Given the description of an element on the screen output the (x, y) to click on. 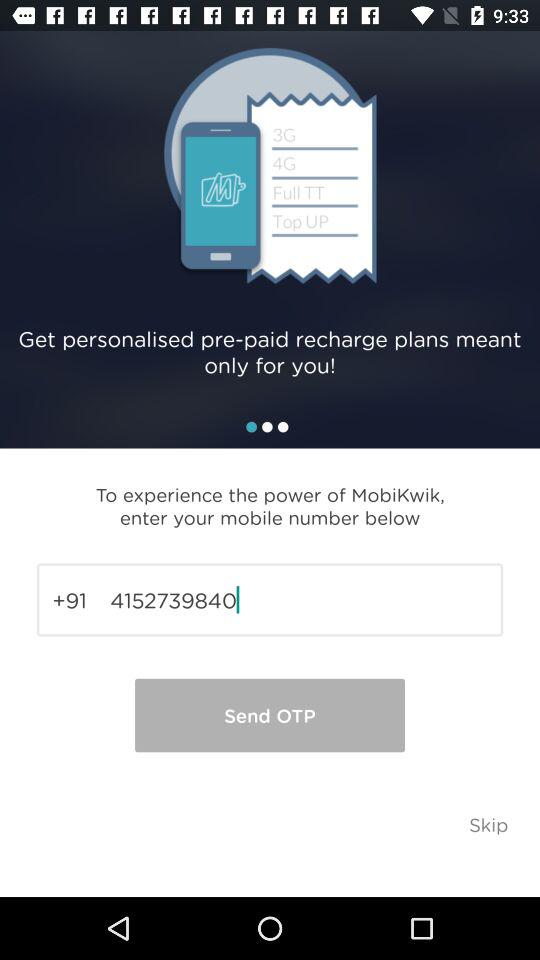
turn on icon below to experience the item (269, 599)
